Given the description of an element on the screen output the (x, y) to click on. 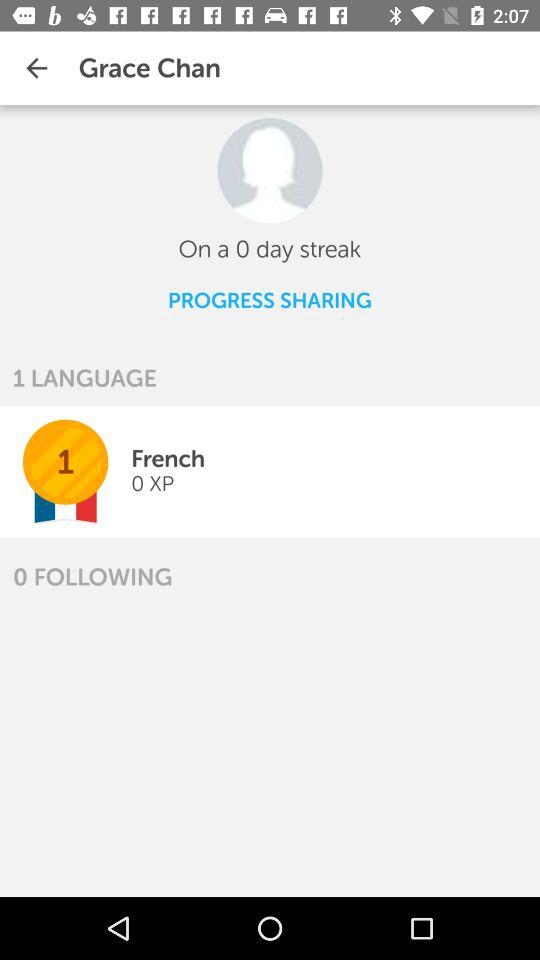
select french (168, 458)
